Given the description of an element on the screen output the (x, y) to click on. 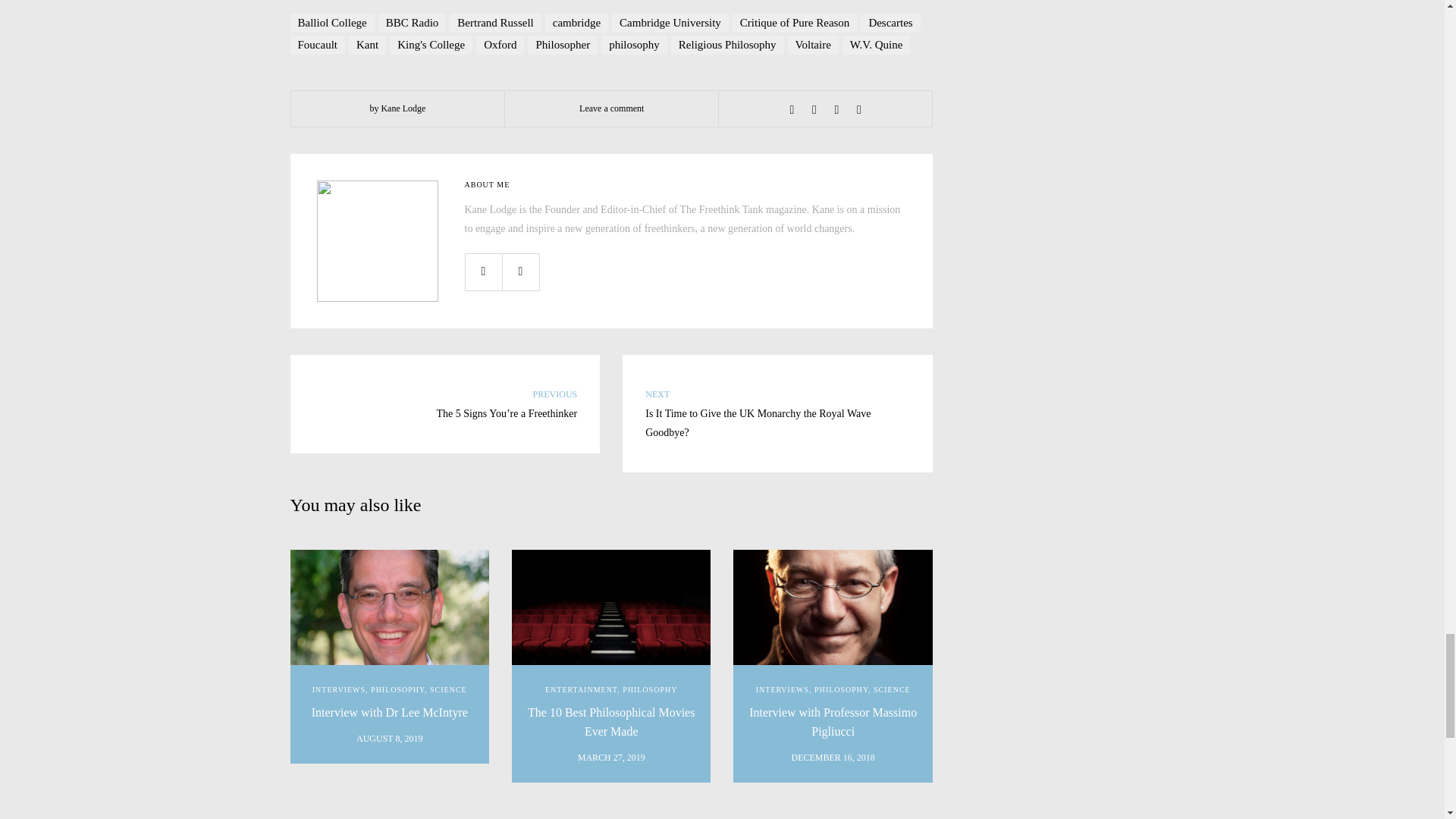
Share with Google Plus (836, 110)
Share this (791, 110)
Pin this (858, 110)
Tweet this (814, 110)
